Given the description of an element on the screen output the (x, y) to click on. 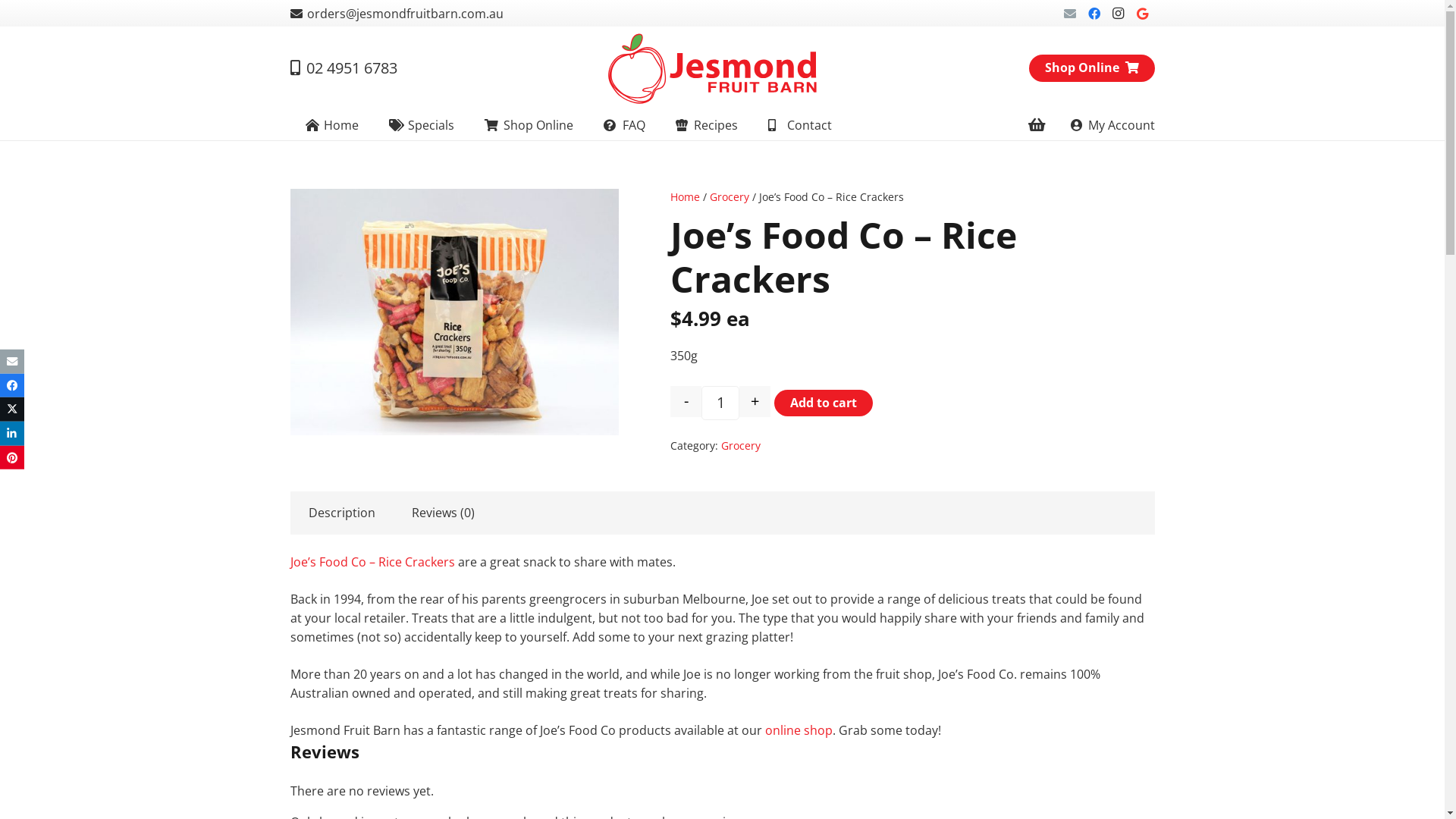
Grocery Element type: text (740, 445)
Home Element type: text (684, 196)
Email this Element type: hover (12, 361)
Email Element type: hover (1069, 13)
orders@jesmondfruitbarn.com.au Element type: text (395, 12)
online shop Element type: text (797, 729)
Grocery Element type: text (729, 196)
Contact Element type: text (800, 124)
Shop Online Element type: text (528, 124)
Pin this Element type: hover (12, 457)
Share this Element type: hover (12, 433)
Add to cart Element type: text (823, 402)
Facebook Element type: hover (1094, 13)
Reviews (0) Element type: text (442, 512)
Share this Element type: hover (12, 385)
+ Element type: text (754, 401)
FAQ Element type: text (624, 124)
Recipes Element type: text (706, 124)
Description Element type: text (340, 512)
Home Element type: text (331, 124)
Tweet this Element type: hover (12, 409)
- Element type: text (685, 401)
My Account Element type: text (1112, 124)
Instagram Element type: hover (1118, 13)
Specials Element type: text (421, 124)
Qty Element type: hover (720, 402)
Shop Online Element type: text (1091, 67)
Google Element type: hover (1142, 13)
Jesmond-Fruit-Barn-Grocery-Joes-Food-Co-Rice-Crackers-350g Element type: hover (453, 311)
